Given the description of an element on the screen output the (x, y) to click on. 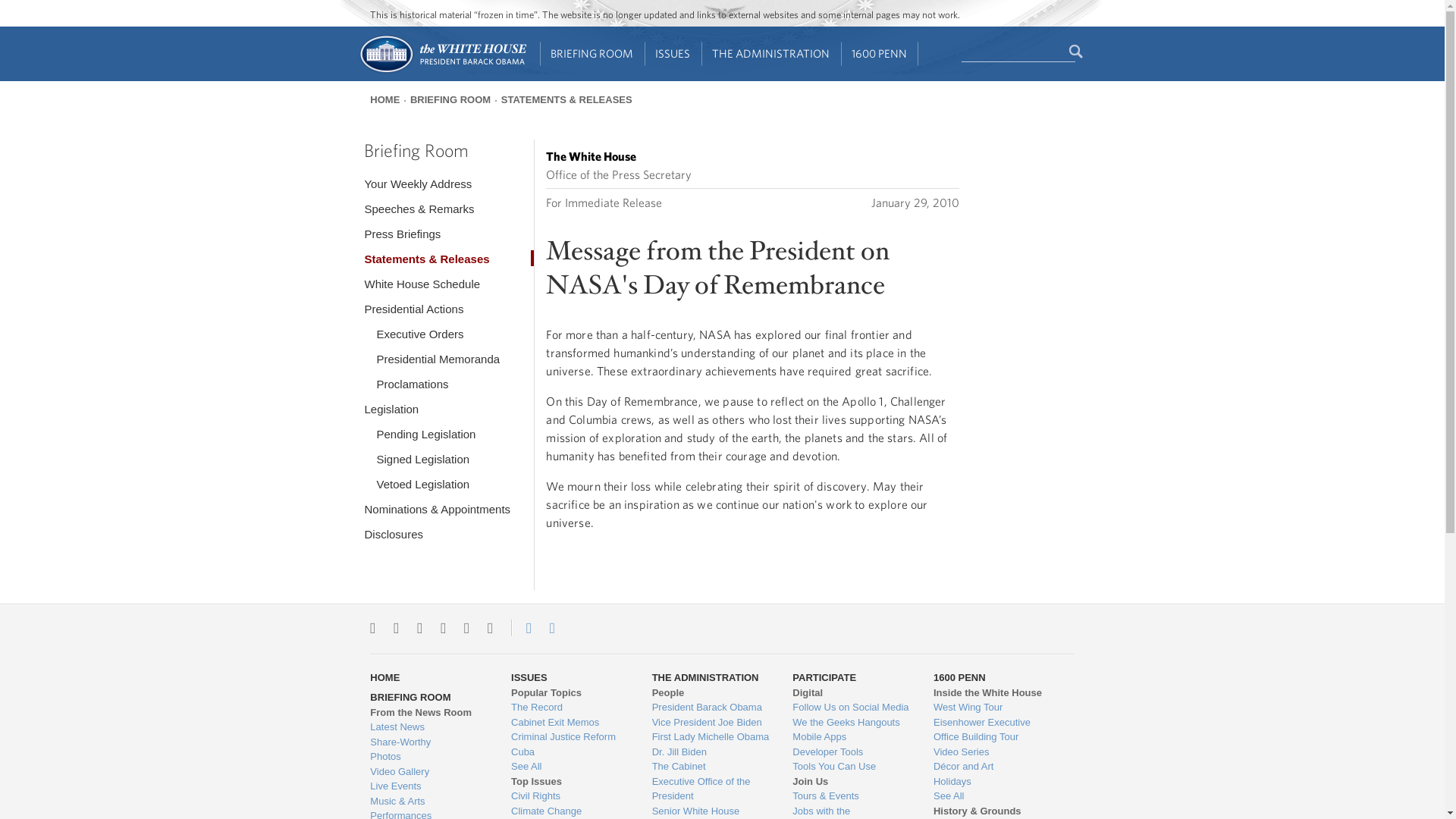
View the photo of the day and other galleries (428, 756)
Home (441, 70)
ISSUES (673, 53)
Read the latest blog posts from 1600 Pennsylvania Ave (428, 726)
Contact the Whitehouse. (521, 627)
Check out the most popular infographics and videos (428, 742)
Search (1076, 51)
Enter the terms you wish to search for. (1017, 52)
Watch behind-the-scenes videos and more (428, 771)
BRIEFING ROOM (592, 53)
